Given the description of an element on the screen output the (x, y) to click on. 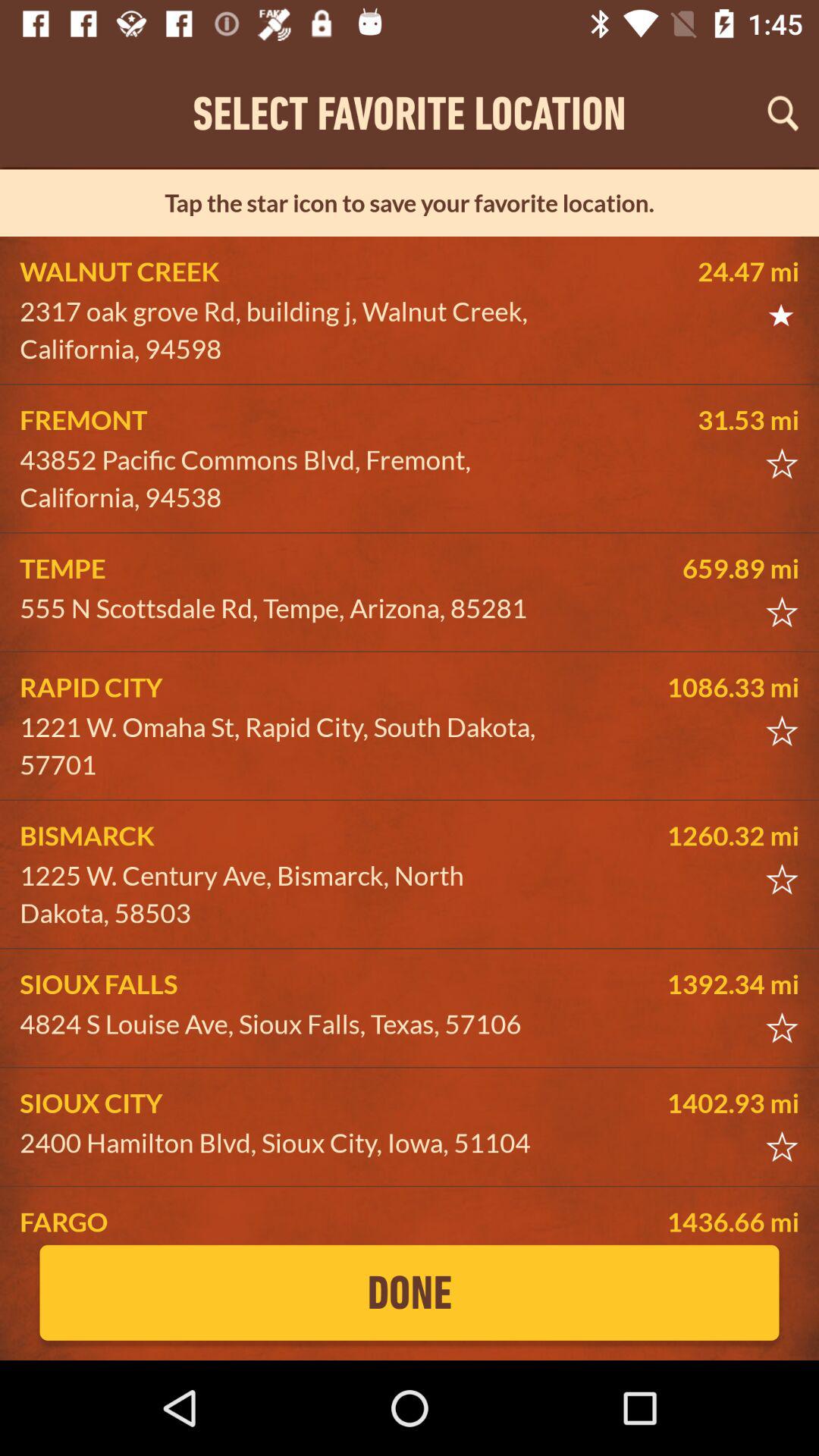
search button (783, 112)
